Given the description of an element on the screen output the (x, y) to click on. 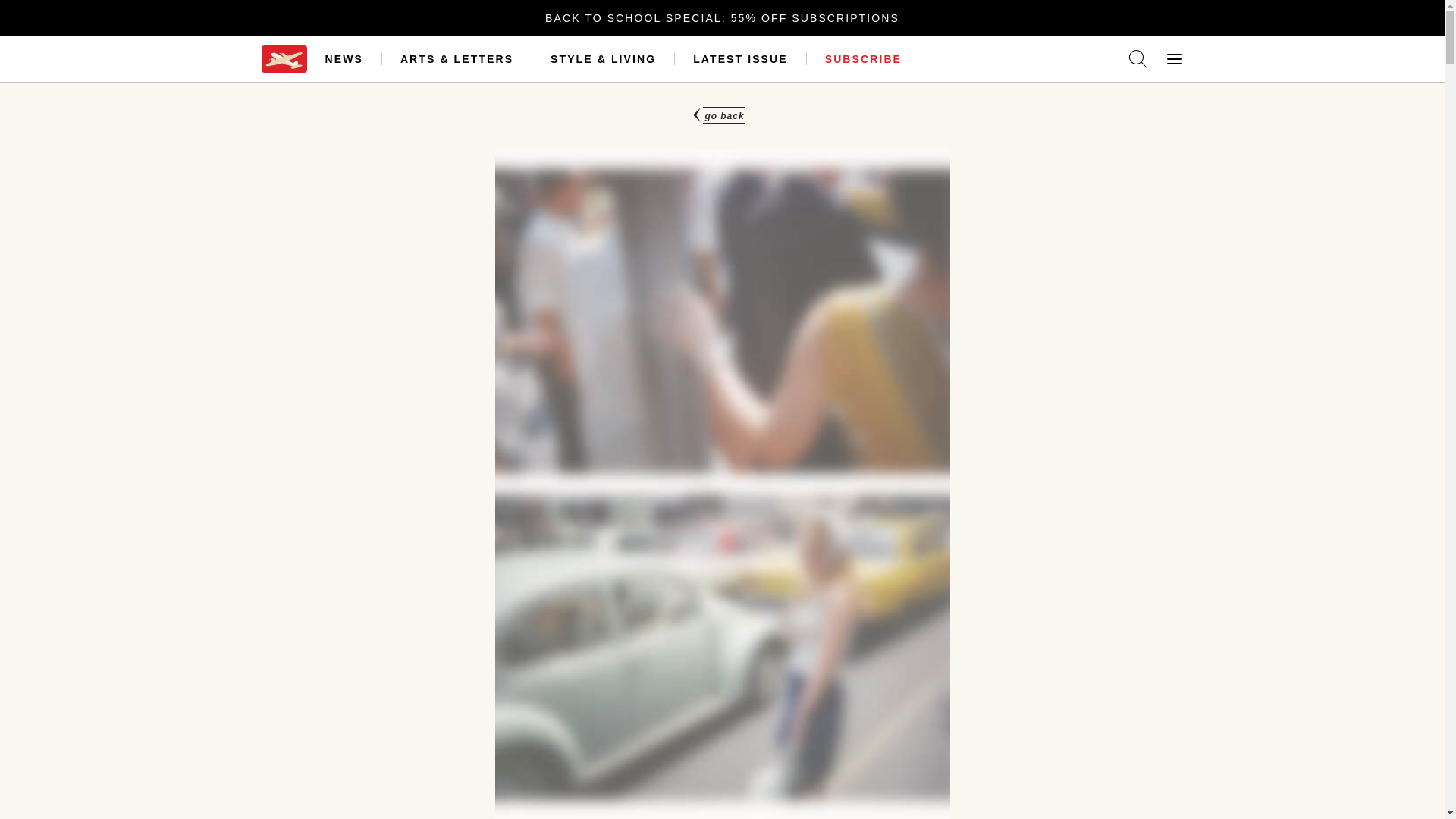
NEWS (343, 59)
LATEST ISSUE (740, 59)
SUBSCRIBE (863, 59)
